Given the description of an element on the screen output the (x, y) to click on. 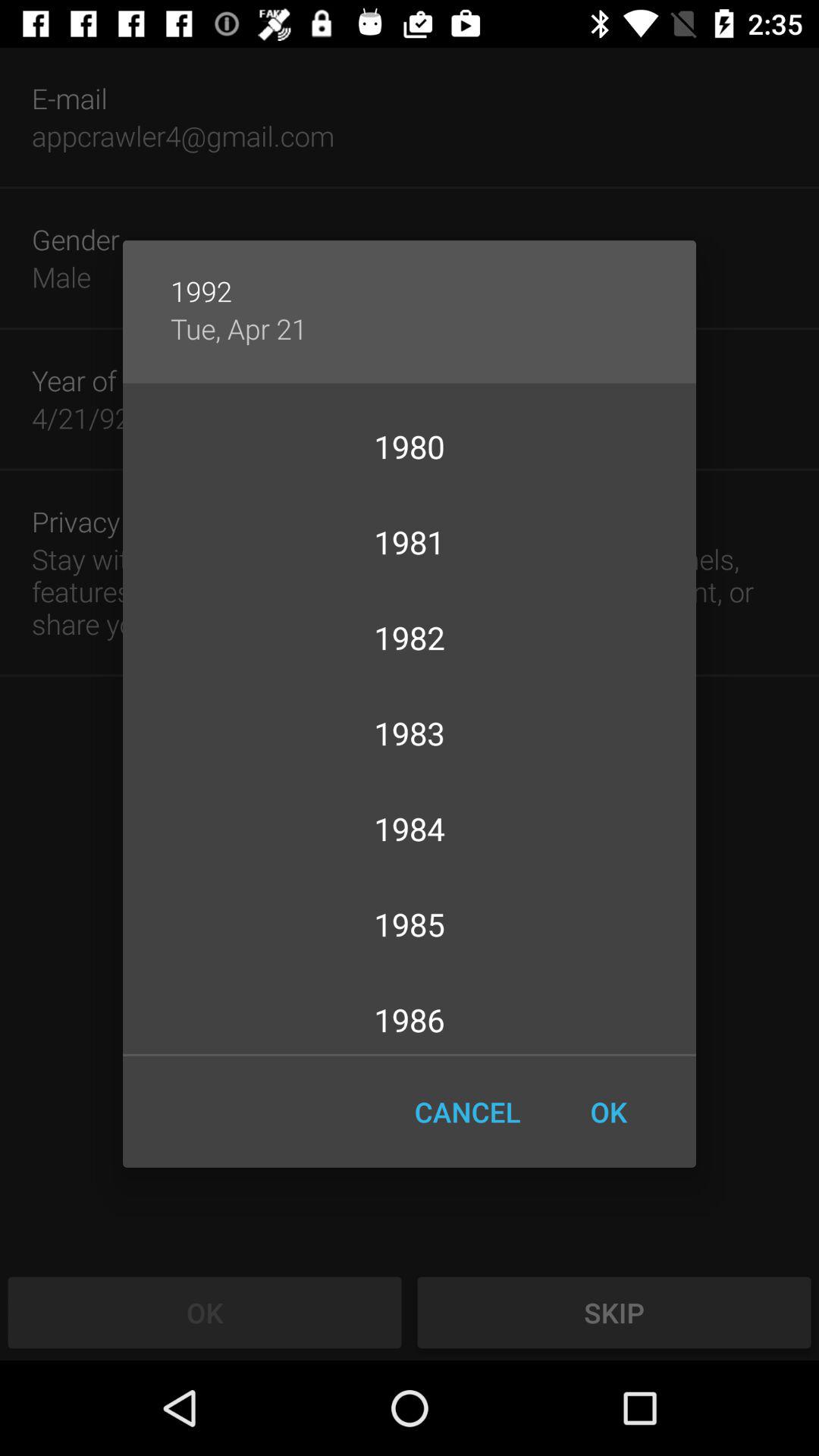
turn on the icon above tue, apr 21 app (409, 274)
